Given the description of an element on the screen output the (x, y) to click on. 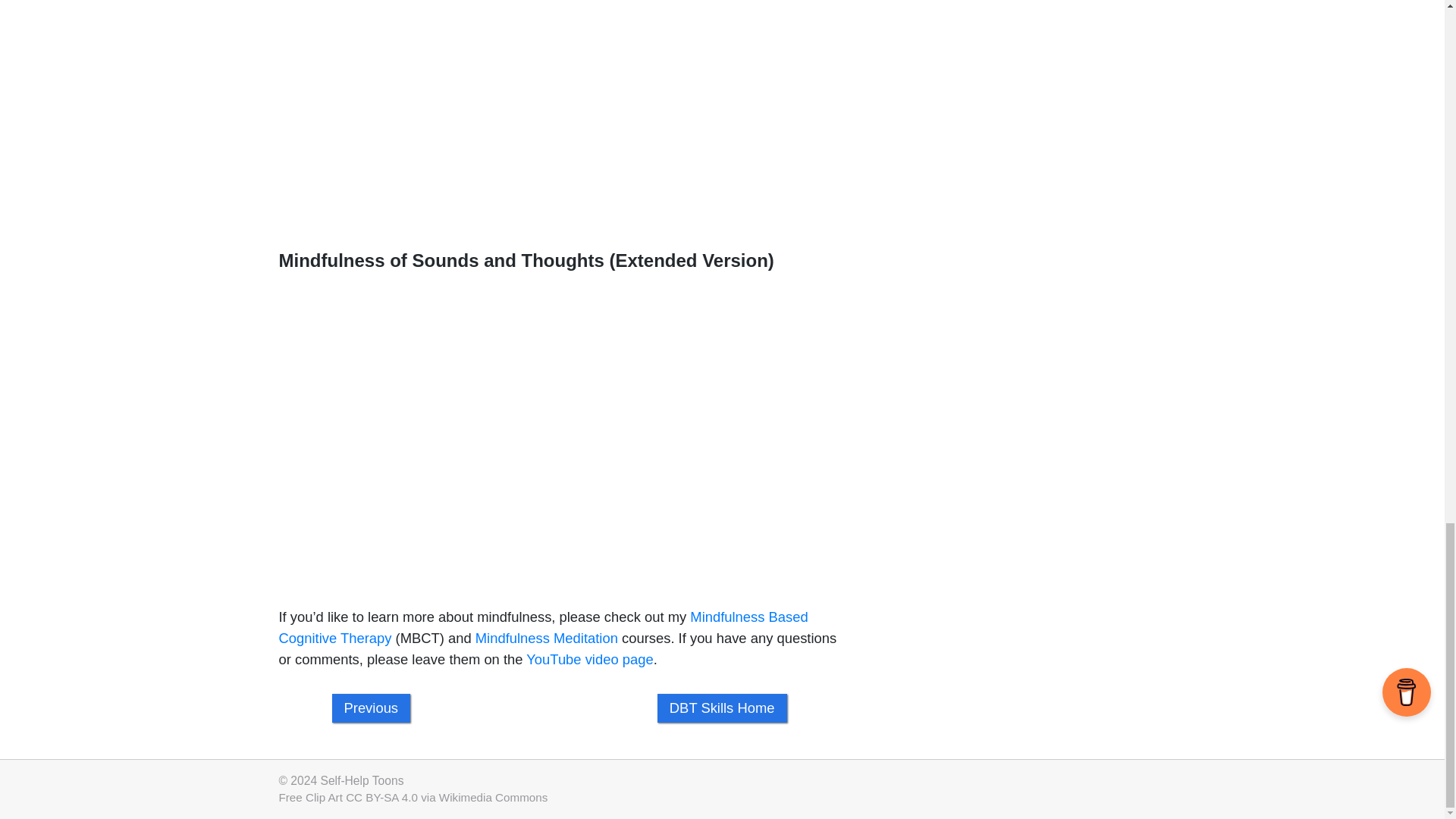
Creative Commons Attribution-Share Alike 4.0 (381, 797)
Mindfulness Based Cognitive Therapy (543, 627)
Previous (370, 707)
YouTube video page (588, 659)
Creative Commons Attribution-Share Alike 4.0 (310, 797)
Mindfulness Meditation (546, 637)
DBT Skills Home (722, 707)
